Given the description of an element on the screen output the (x, y) to click on. 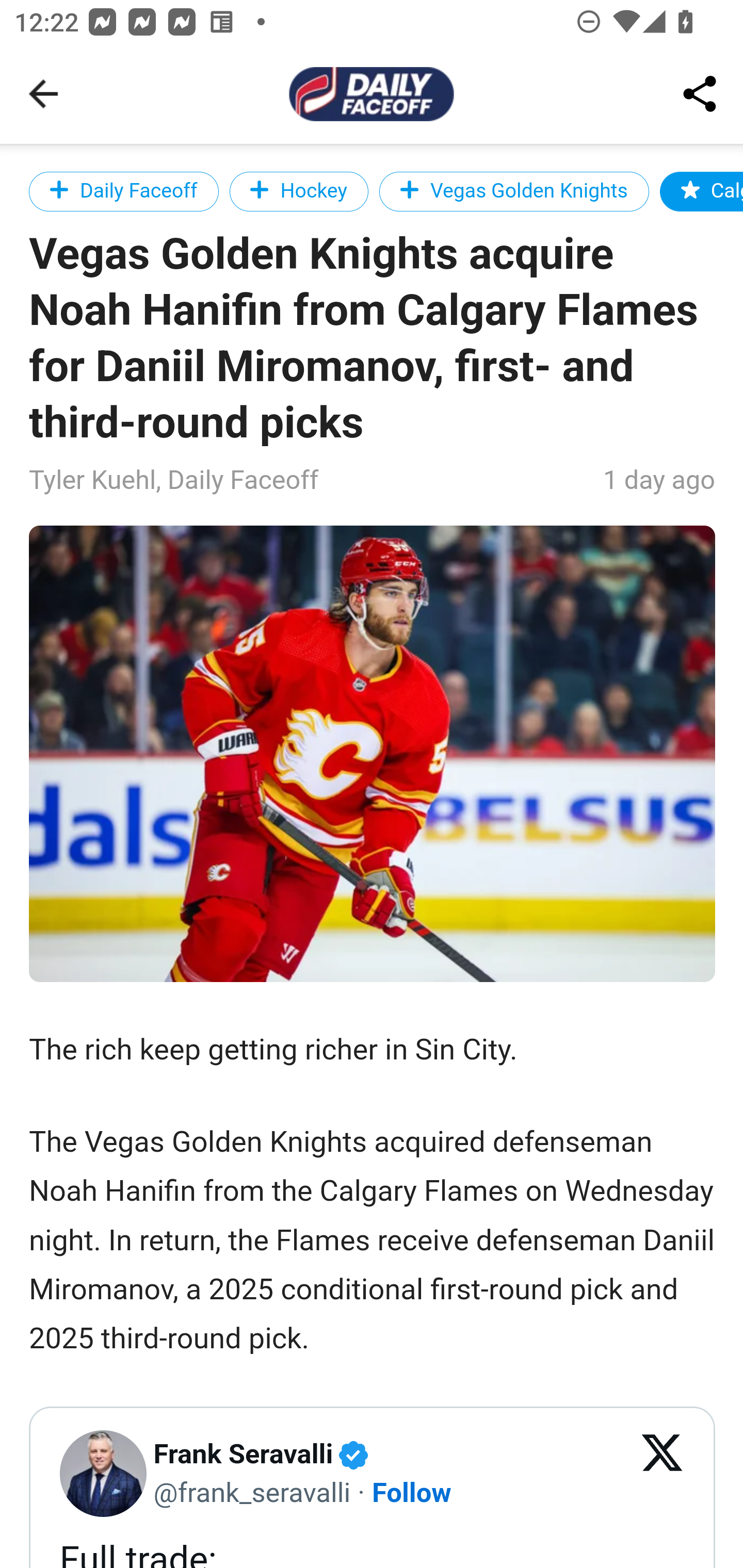
Daily Faceoff (124, 191)
Hockey (298, 191)
Vegas Golden Knights (513, 191)
View on X (662, 1473)
@frank_seravalli (251, 1490)
Follow (412, 1490)
